Given the description of an element on the screen output the (x, y) to click on. 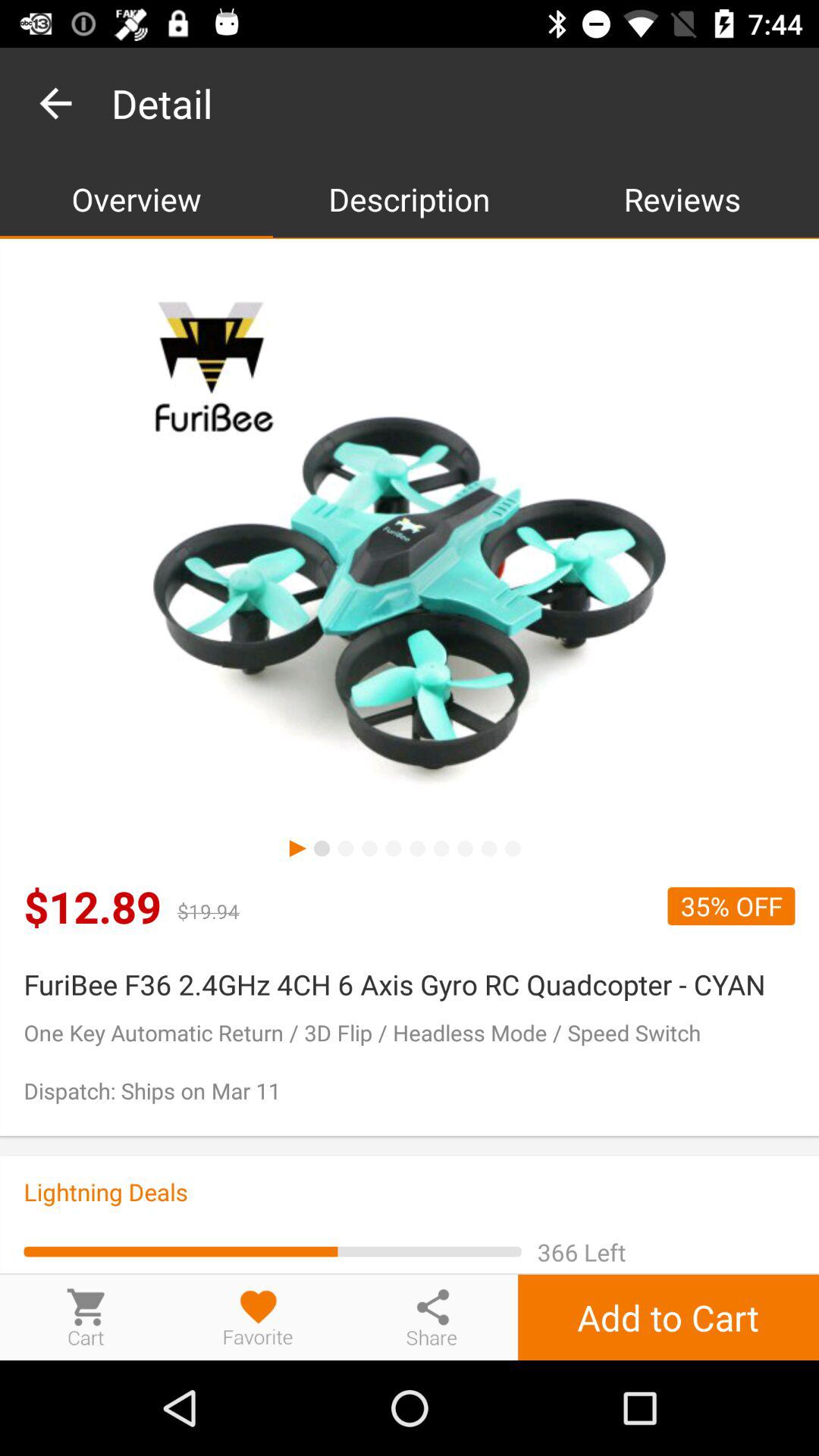
favorite option (258, 1317)
